Given the description of an element on the screen output the (x, y) to click on. 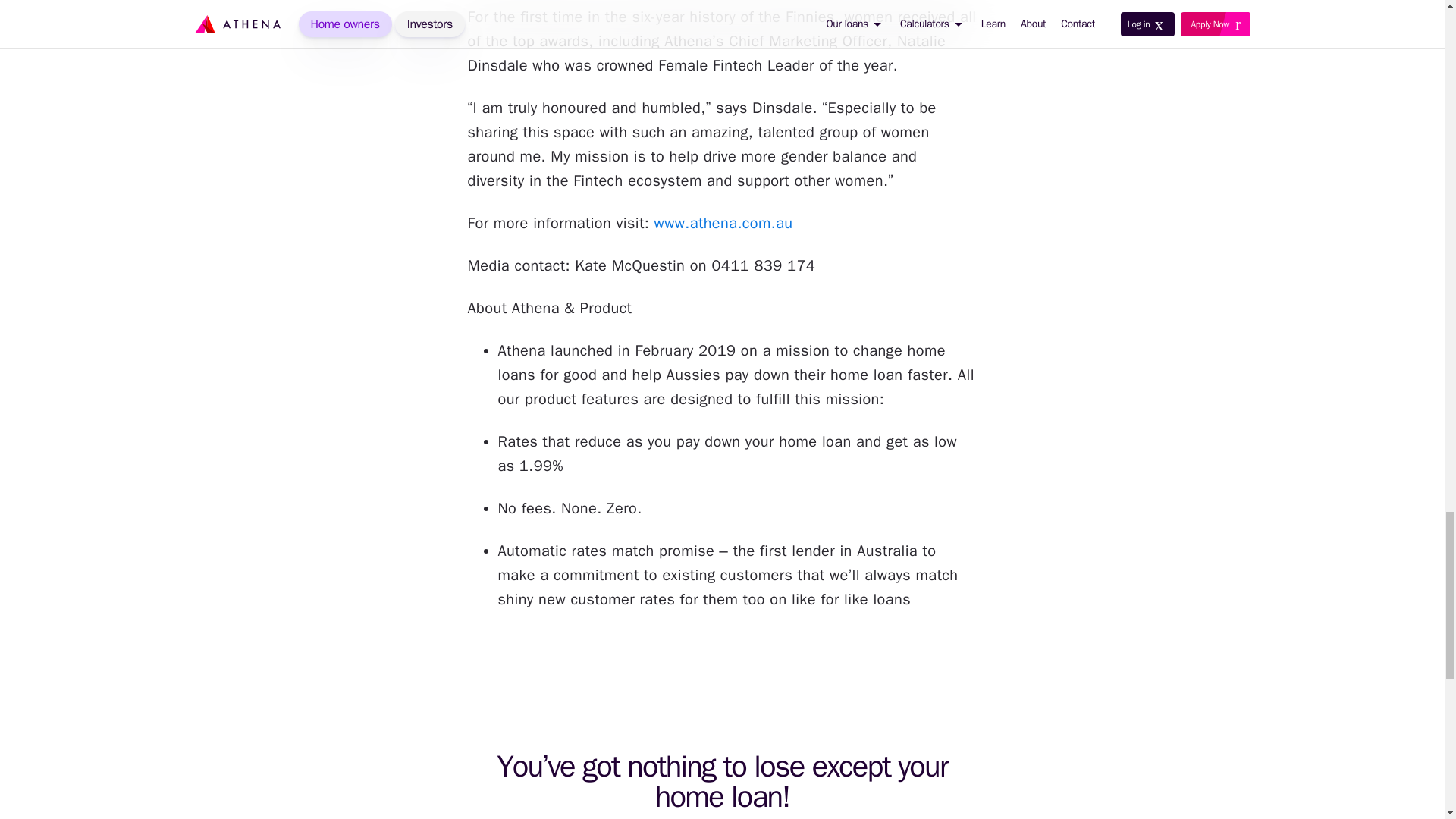
www.athena.com.au (723, 222)
